Given the description of an element on the screen output the (x, y) to click on. 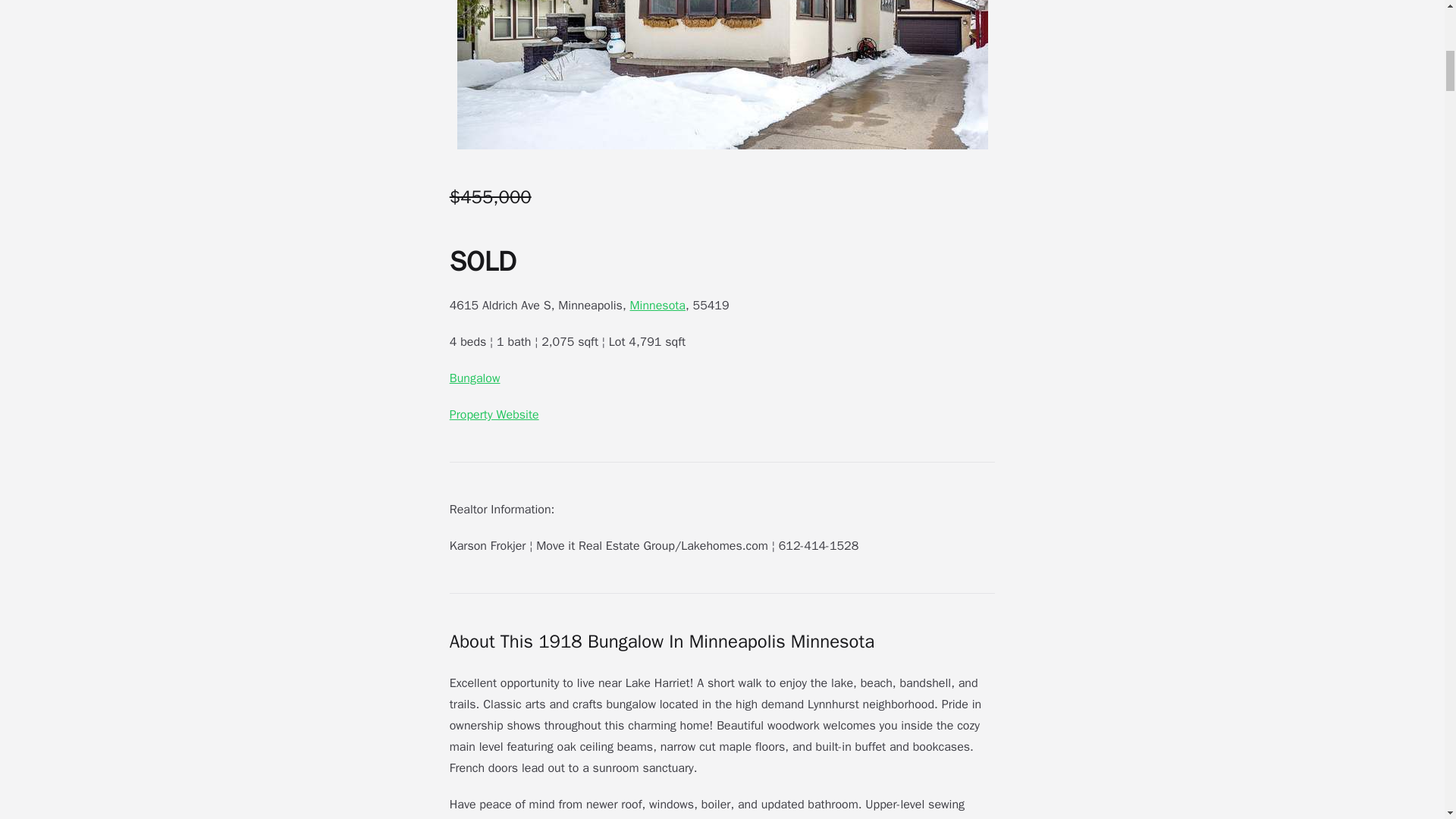
1918 Bungalow For Sale In Minneapolis Minnesota (722, 74)
